Given the description of an element on the screen output the (x, y) to click on. 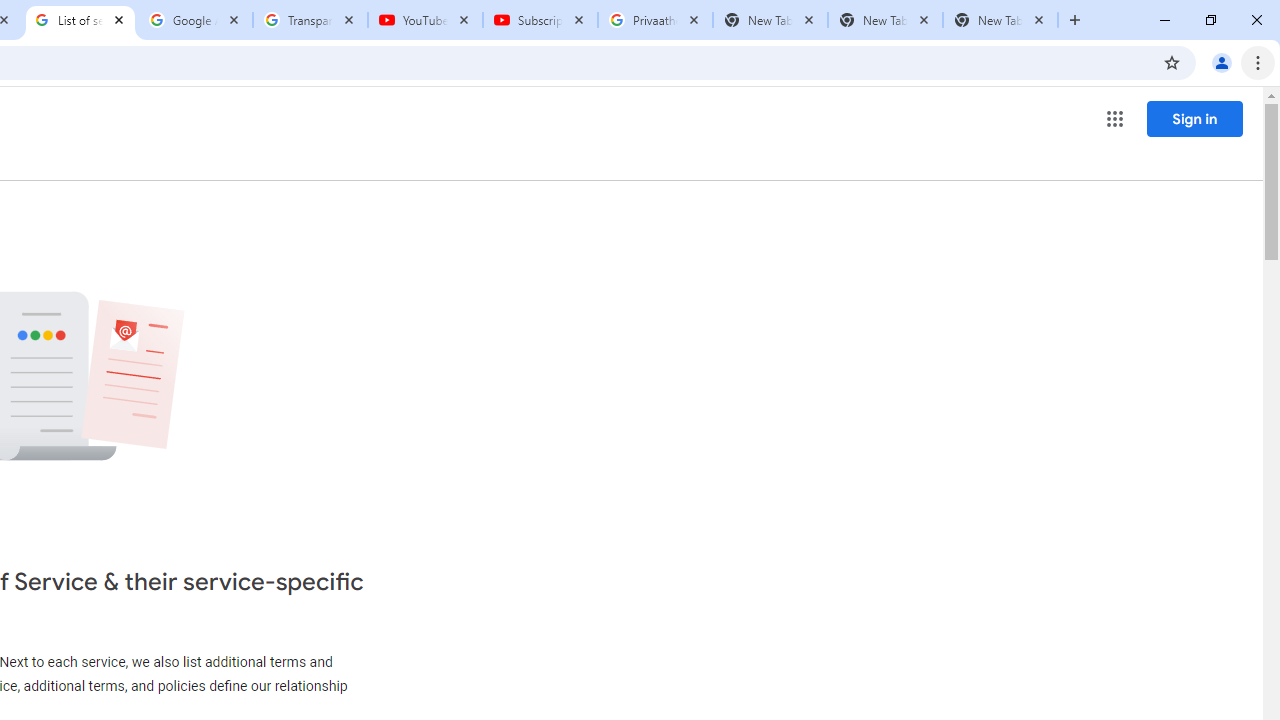
New Tab (1000, 20)
Google Account (195, 20)
YouTube (424, 20)
Subscriptions - YouTube (539, 20)
